Given the description of an element on the screen output the (x, y) to click on. 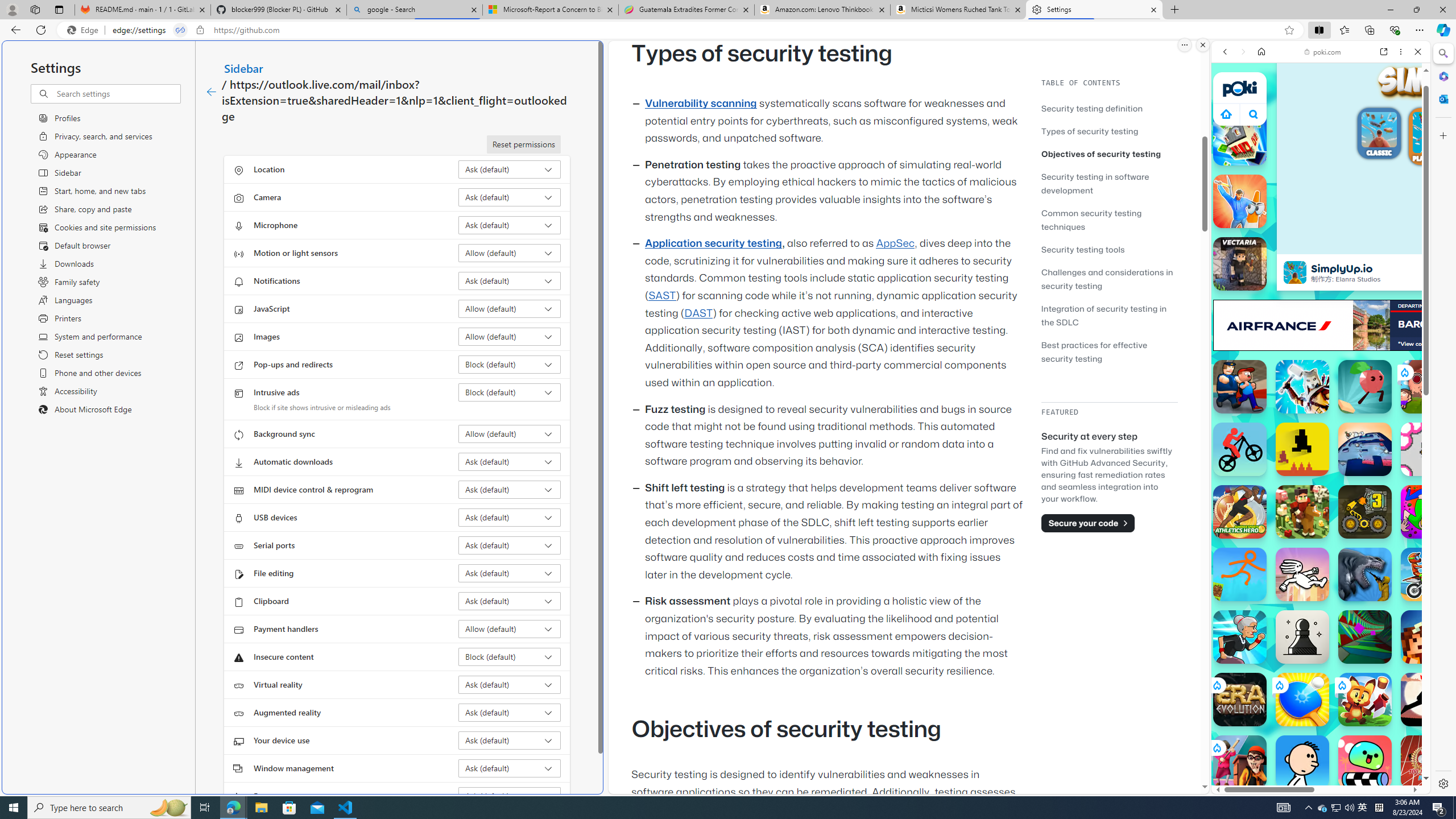
Class: b_serphb (1404, 130)
100 Metres Race 100 Metres Race (1427, 761)
Narrow.One Narrow.One (1302, 386)
SAST (661, 295)
